Given the description of an element on the screen output the (x, y) to click on. 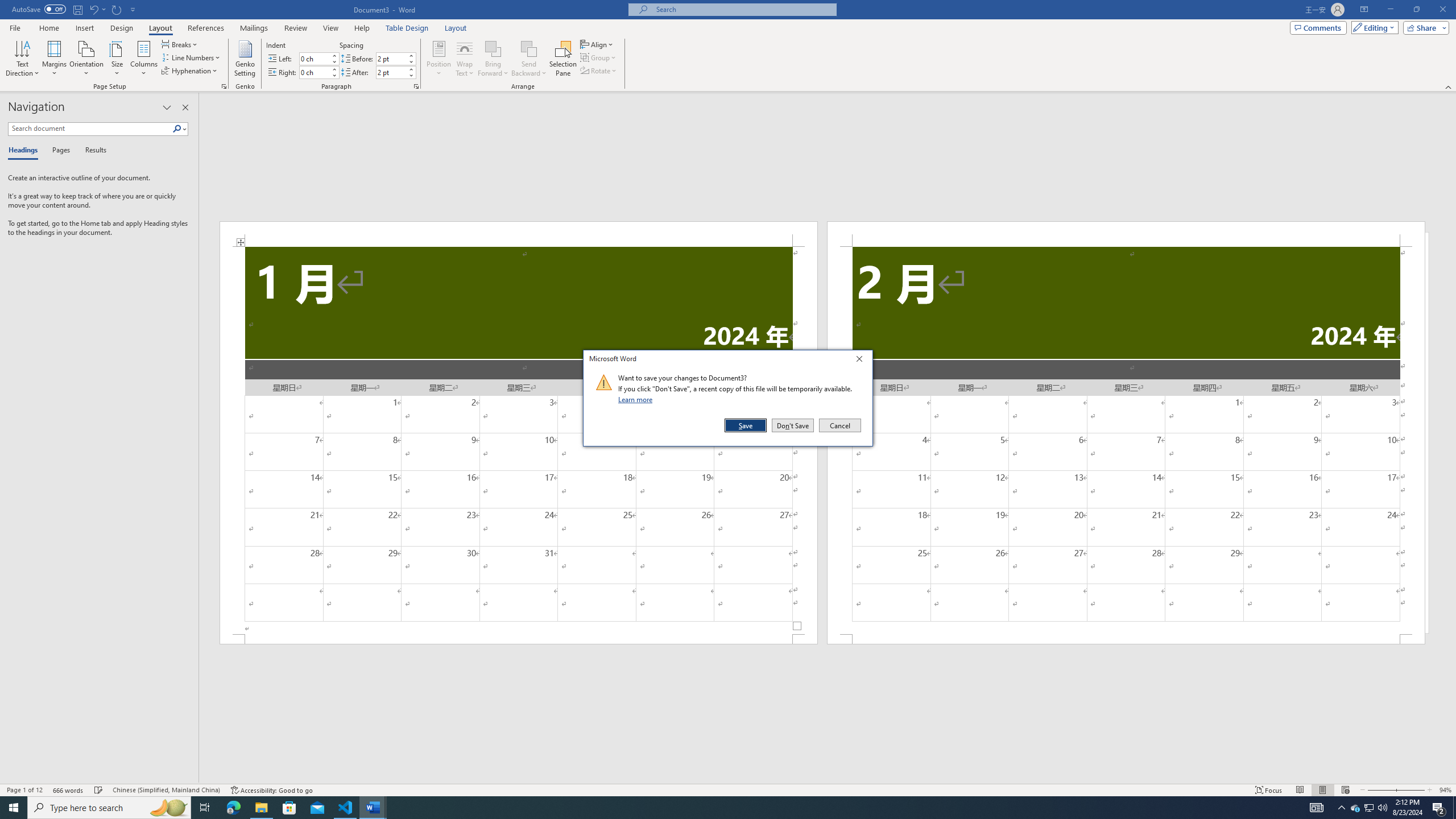
Size (116, 58)
Page Number Page 1 of 12 (24, 790)
Indent Left (314, 58)
Send Backward (528, 48)
File Explorer - 1 running window (261, 807)
Selection Pane... (563, 58)
